Given the description of an element on the screen output the (x, y) to click on. 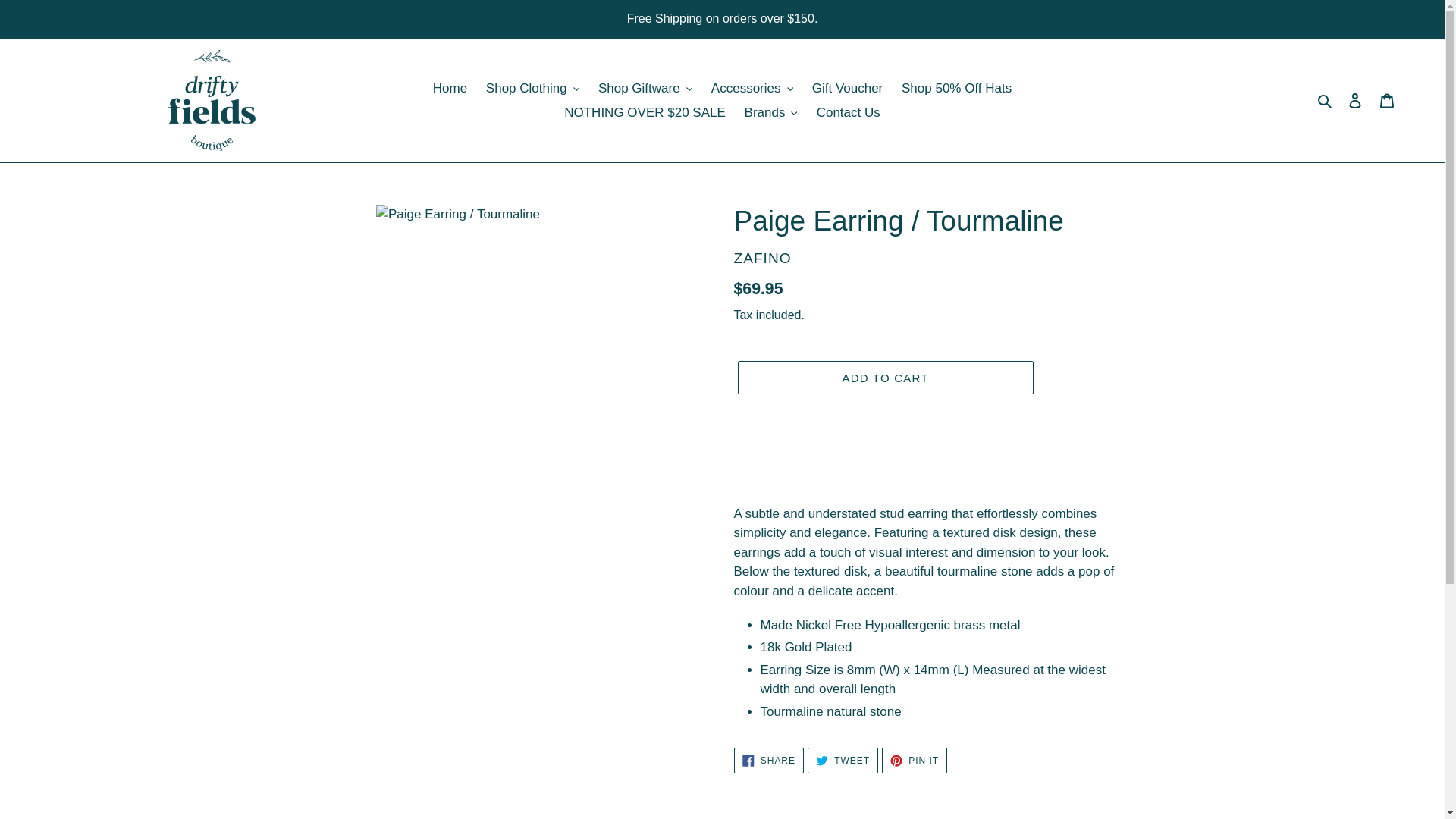
Accessories (751, 88)
Brands (770, 111)
Shop Giftware (645, 88)
Shop Clothing (532, 88)
Gift Voucher (848, 88)
Home (449, 88)
